Given the description of an element on the screen output the (x, y) to click on. 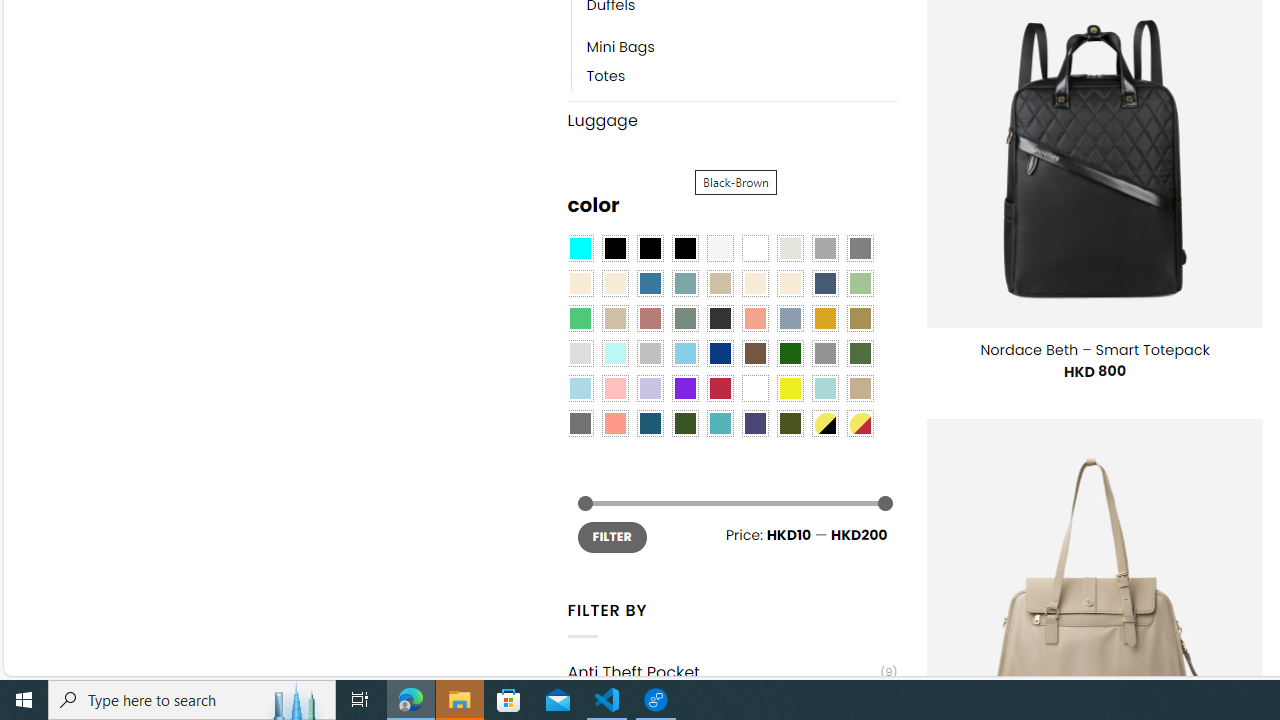
Yellow-Red (859, 424)
Emerald Green (579, 318)
Purple (684, 388)
Purple Navy (755, 424)
Mini Bags (620, 48)
Blue (650, 283)
Red (719, 388)
Black-Brown (684, 249)
Caramel (755, 283)
Mini Bags (742, 48)
Light Blue (579, 388)
Light Gray (579, 354)
Cream (789, 283)
Aqua Blue (579, 249)
Aqua (824, 388)
